Given the description of an element on the screen output the (x, y) to click on. 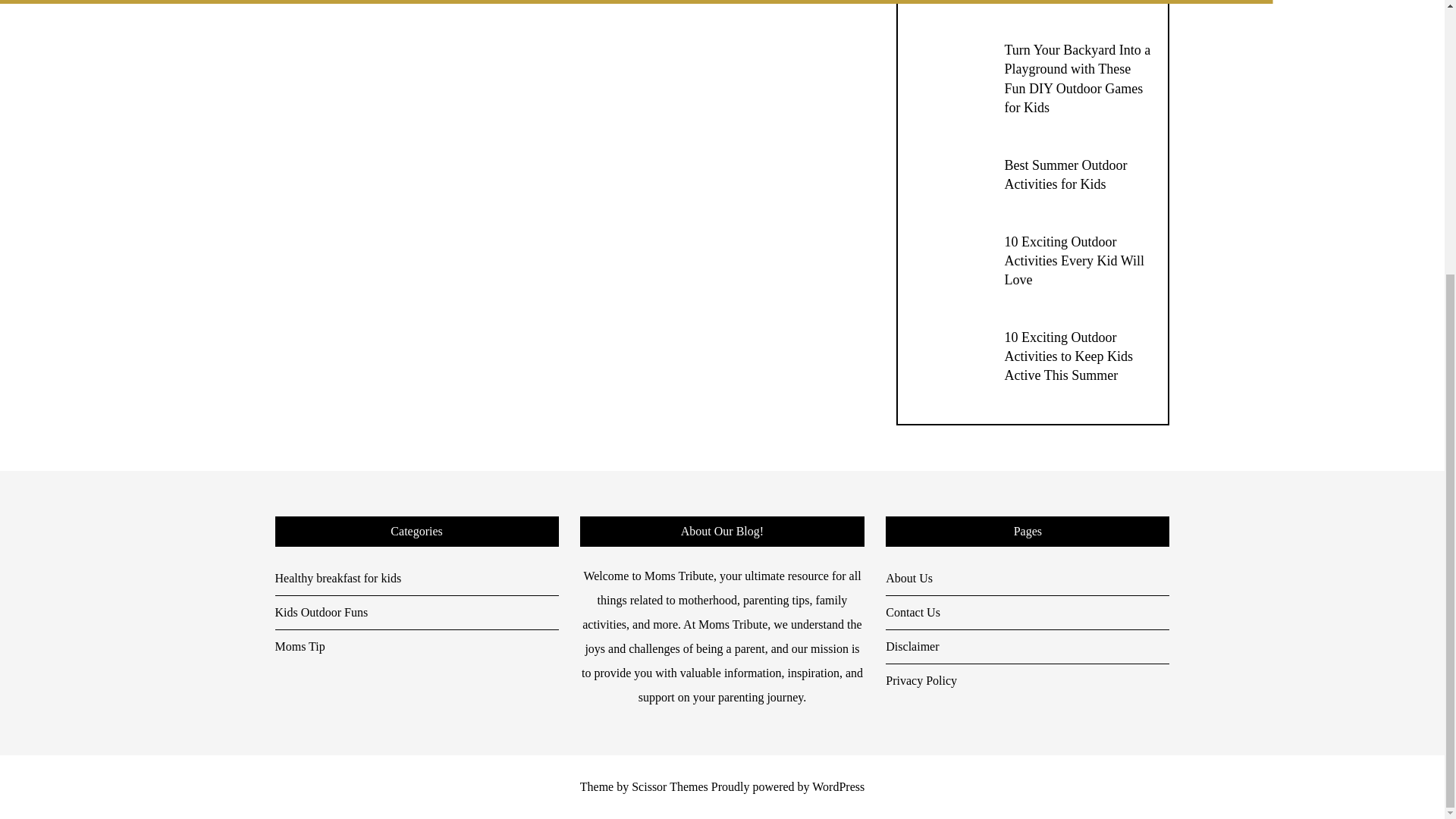
Privacy Policy (1027, 680)
Healthy breakfast for kids (416, 578)
Scissor Themes (669, 786)
WordPress (838, 786)
Best Summer Outdoor Activities for Kids (1065, 174)
Contact Us (1027, 612)
Disclaimer (1027, 646)
